Given the description of an element on the screen output the (x, y) to click on. 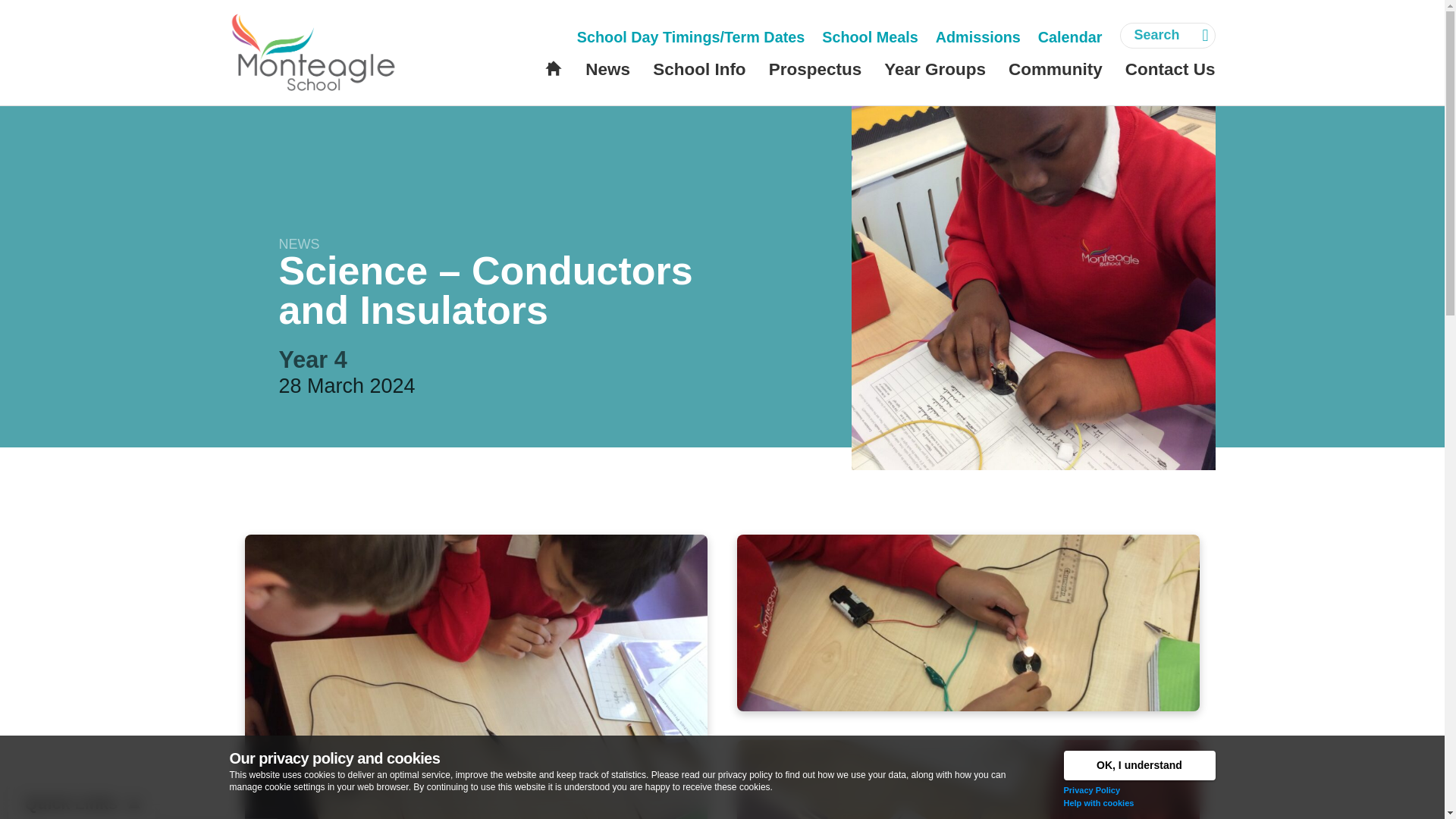
School Meals (869, 37)
School Info (698, 69)
Community (1055, 69)
Privacy Policy (1090, 789)
Admissions (978, 37)
OK, I understand (1138, 765)
Help with cookies (1098, 801)
News (607, 69)
Home (553, 67)
Contact Us (1170, 69)
Prospectus (814, 69)
Calendar (1070, 37)
Year Groups (934, 69)
Quick Links (81, 803)
